Given the description of an element on the screen output the (x, y) to click on. 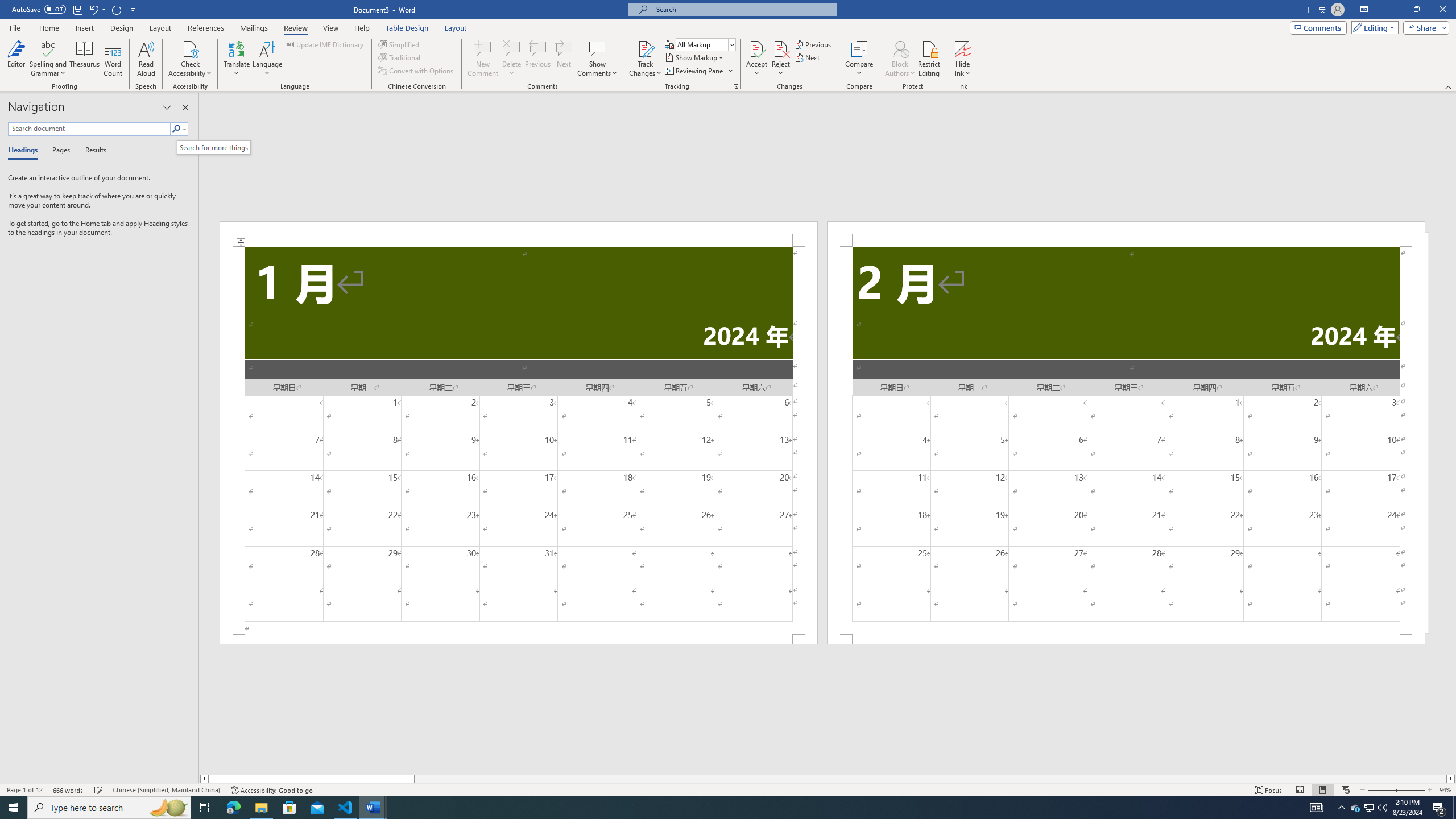
Delete (511, 58)
Hide Ink (962, 48)
New Comment (482, 58)
Update IME Dictionary... (324, 44)
Column right (1450, 778)
Thesaurus... (84, 58)
